Given the description of an element on the screen output the (x, y) to click on. 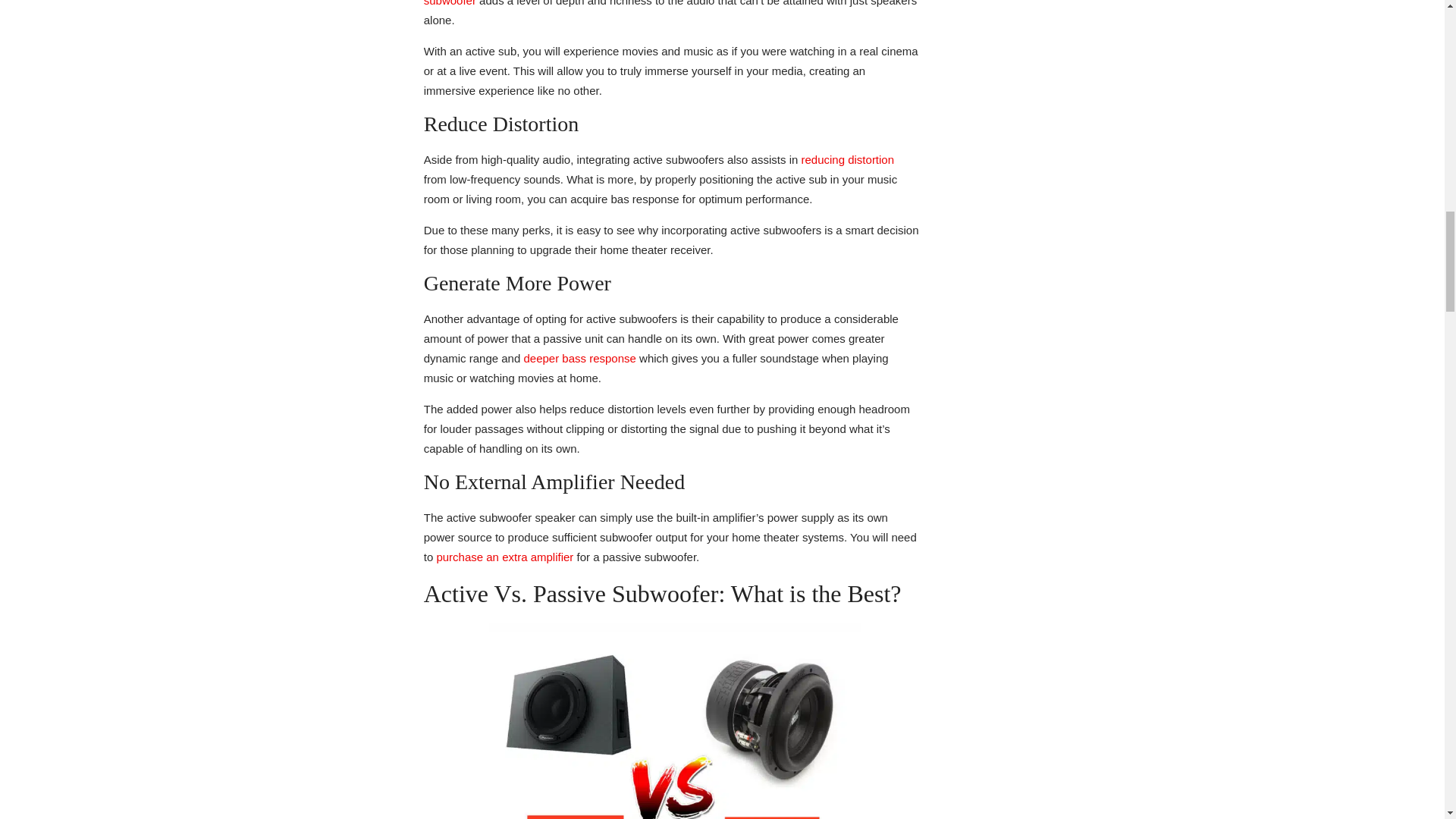
Active vs passive subwoofer (670, 721)
